Given the description of an element on the screen output the (x, y) to click on. 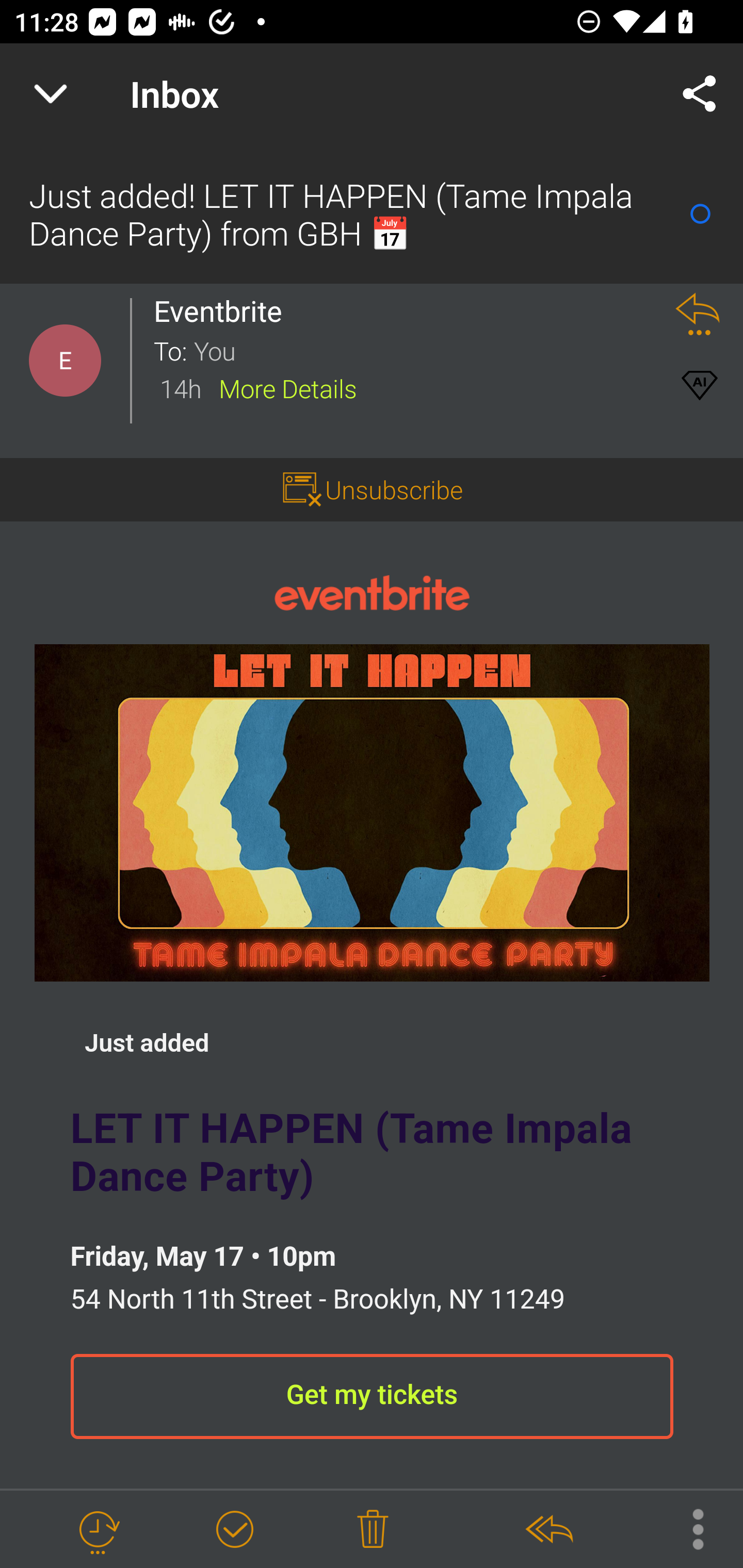
Navigate up (50, 93)
Share (699, 93)
Eventbrite (222, 310)
Contact Details (64, 360)
More Details (287, 387)
Unsubscribe (371, 489)
Eventbrite (371, 592)
LET IT HAPPEN (Tame Impala Dance Party) (371, 811)
LET IT HAPPEN (Tame Impala Dance Party) (371, 1153)
Get my tickets (371, 1396)
Snooze (97, 1529)
Mark as Done (234, 1529)
Delete (372, 1529)
Reply All (548, 1529)
